Given the description of an element on the screen output the (x, y) to click on. 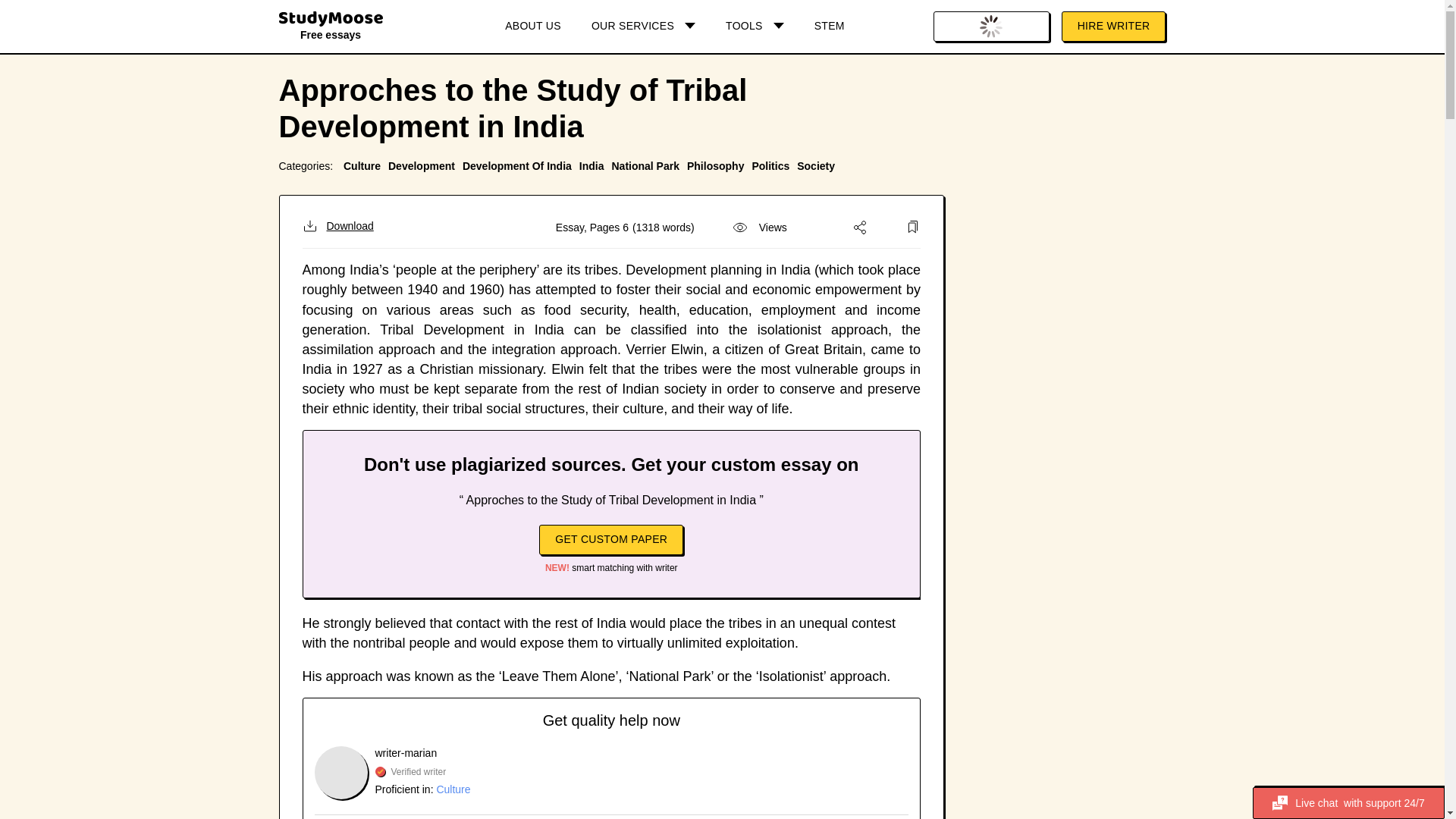
India (591, 165)
Philosophy (715, 165)
Politics (770, 165)
National Park (644, 165)
HIRE WRITER (1113, 26)
Free essays (330, 29)
Development (421, 165)
GET CUSTOM PAPER (610, 539)
TOOLS (754, 26)
ABOUT US (532, 26)
